Given the description of an element on the screen output the (x, y) to click on. 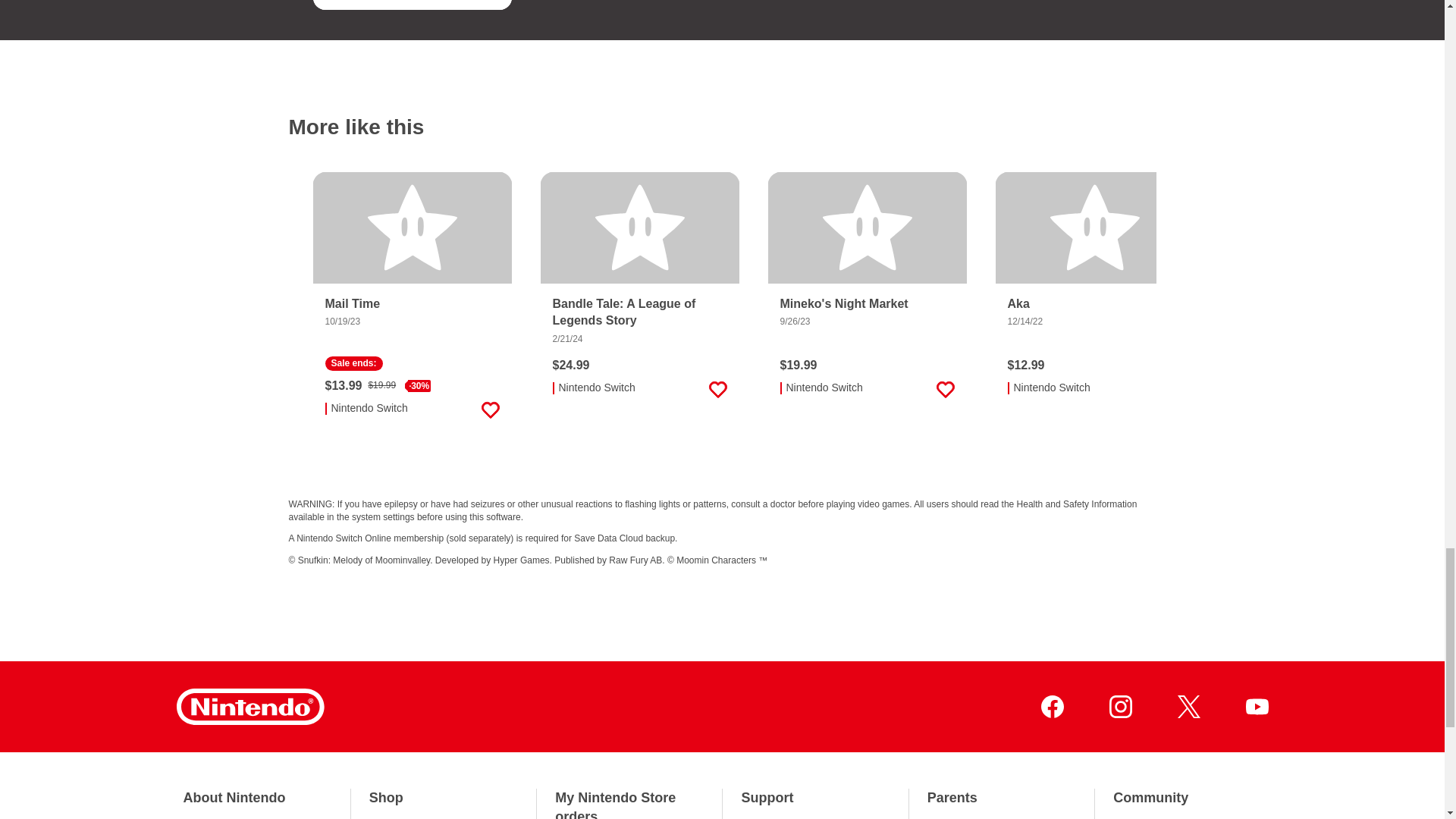
Nintendo Homepage (249, 706)
Add to Wish List (944, 389)
Add to Wish List (489, 4)
Add to Wish List (716, 389)
Add to Wish List (489, 410)
Nintendo on Facebook (1051, 706)
Add to Wish List (1172, 389)
